Given the description of an element on the screen output the (x, y) to click on. 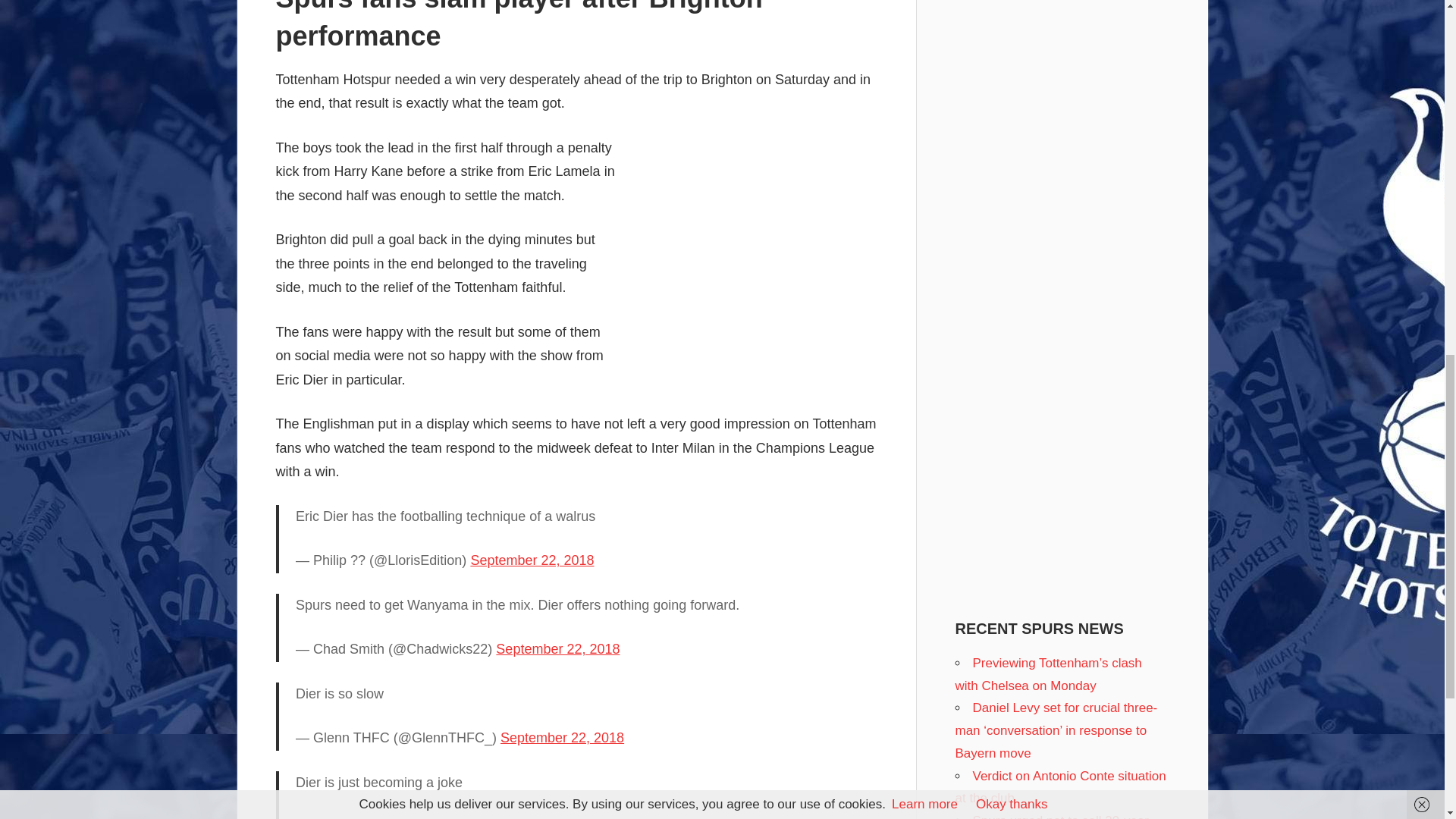
Spurs urged not to sell 29-year-old star forward (1054, 816)
September 22, 2018 (558, 648)
Advertisement (750, 248)
Verdict on Antonio Conte situation at the club (1060, 787)
September 22, 2018 (532, 560)
September 22, 2018 (562, 737)
